Given the description of an element on the screen output the (x, y) to click on. 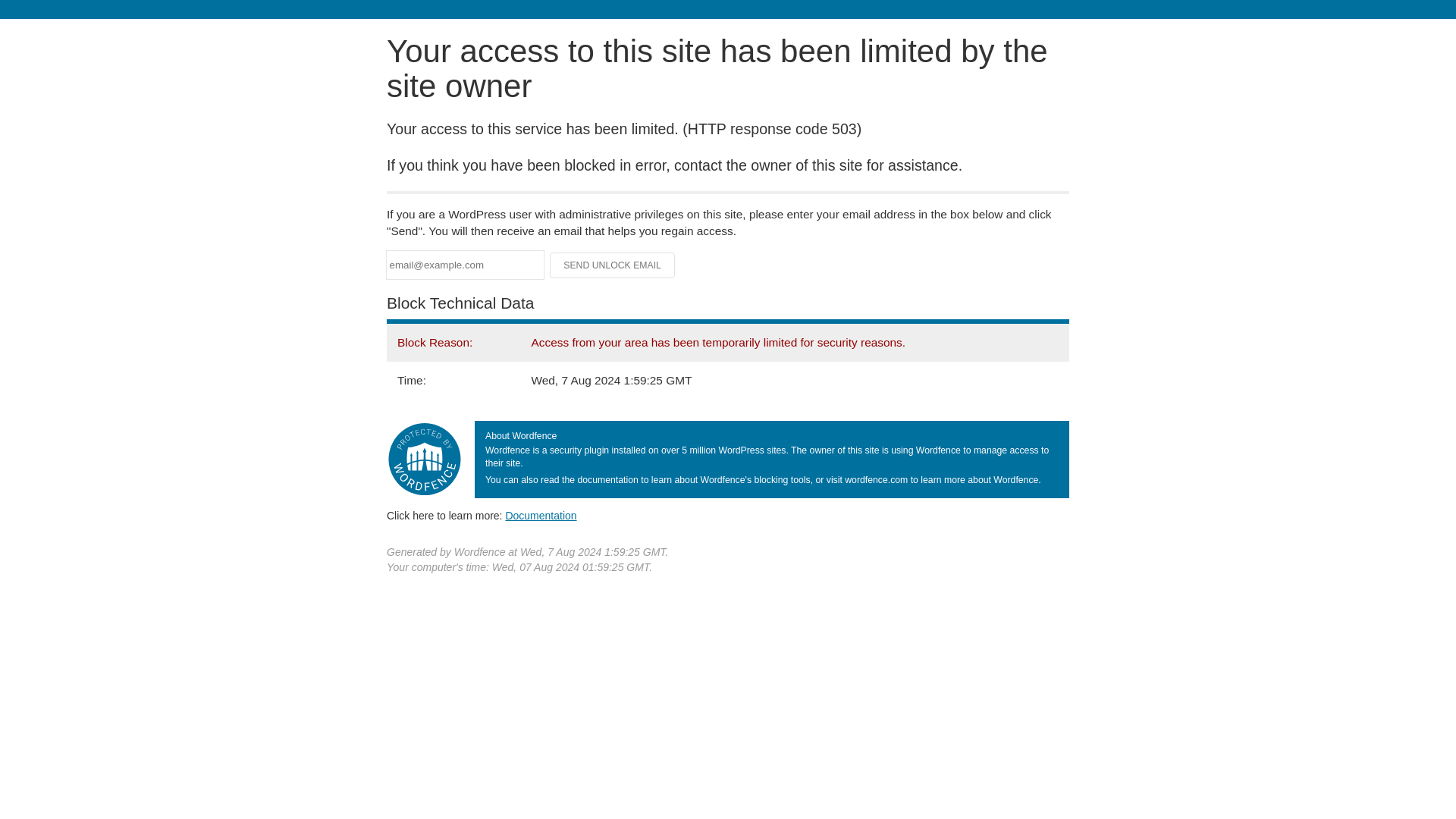
Send Unlock Email (612, 265)
Send Unlock Email (612, 265)
Documentation (540, 515)
